Given the description of an element on the screen output the (x, y) to click on. 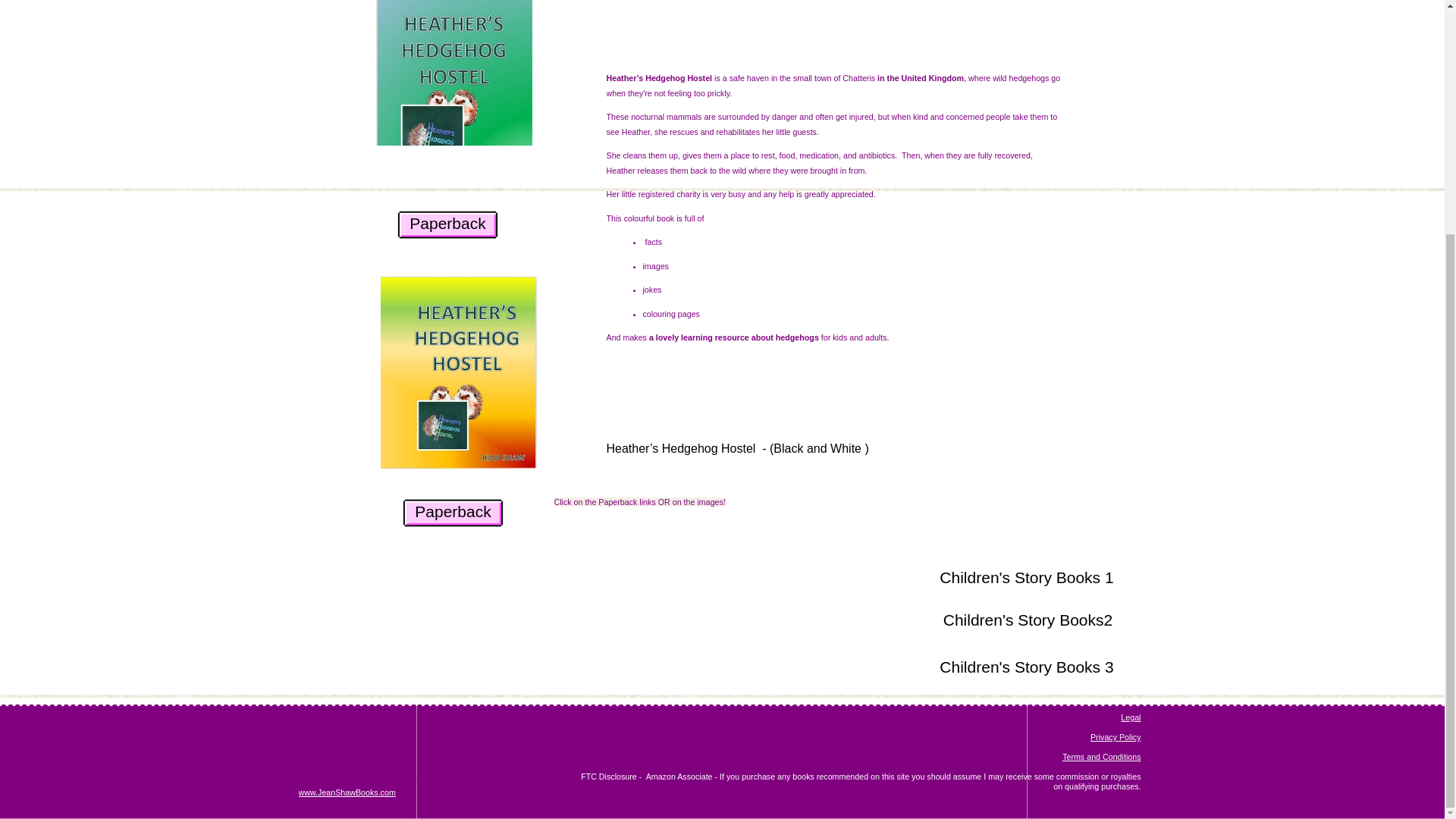
Children's Story Books 1 (1026, 578)
Paperback (446, 224)
Privacy Policy (1115, 737)
Paperback (452, 512)
Children's Story Books2 (1026, 621)
Children's Story Books 3 (1026, 668)
Legal (1130, 722)
www.JeanShawBooks.com (347, 791)
Terms and Conditions (1101, 756)
